Given the description of an element on the screen output the (x, y) to click on. 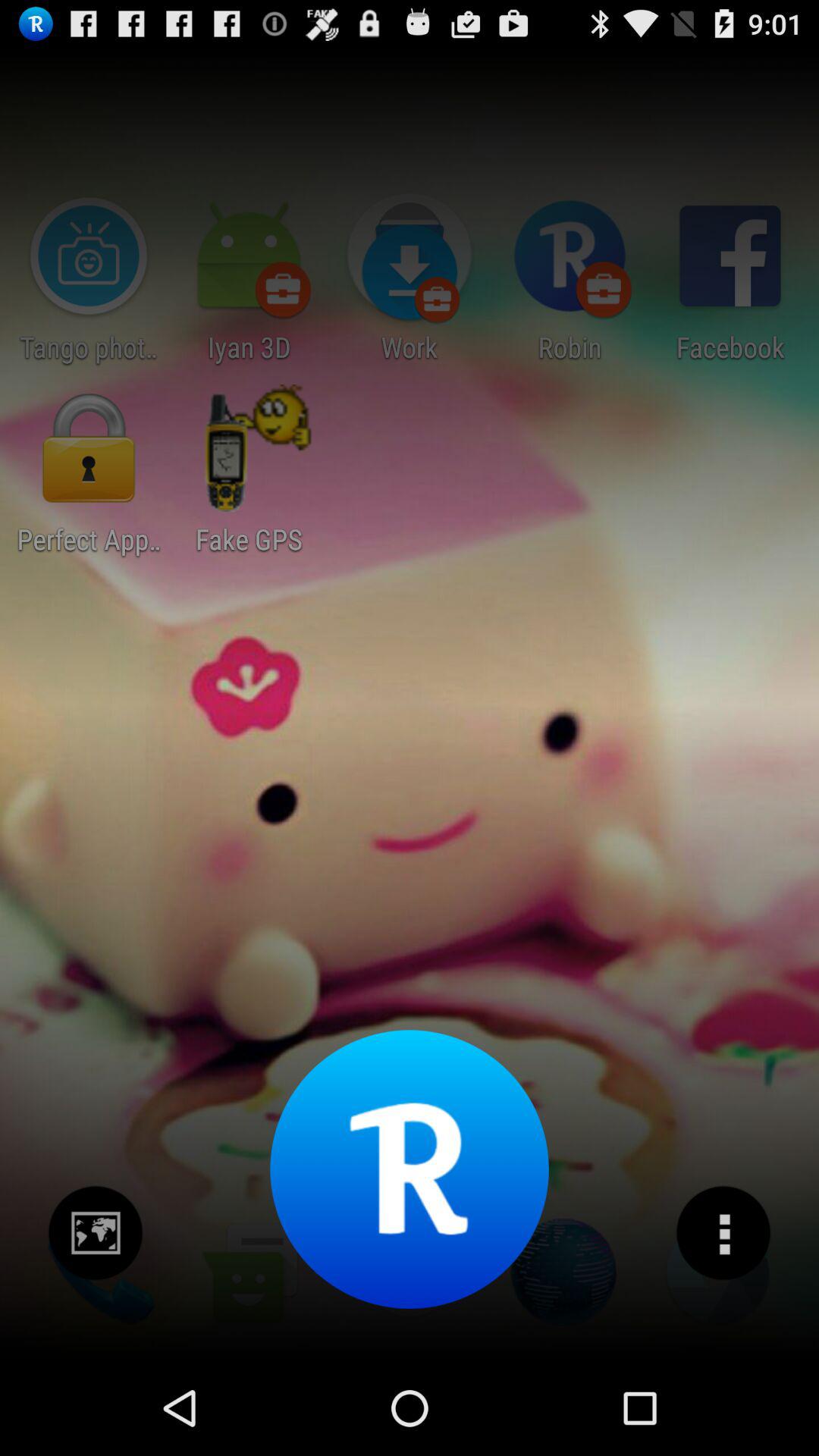
map option (95, 1232)
